Given the description of an element on the screen output the (x, y) to click on. 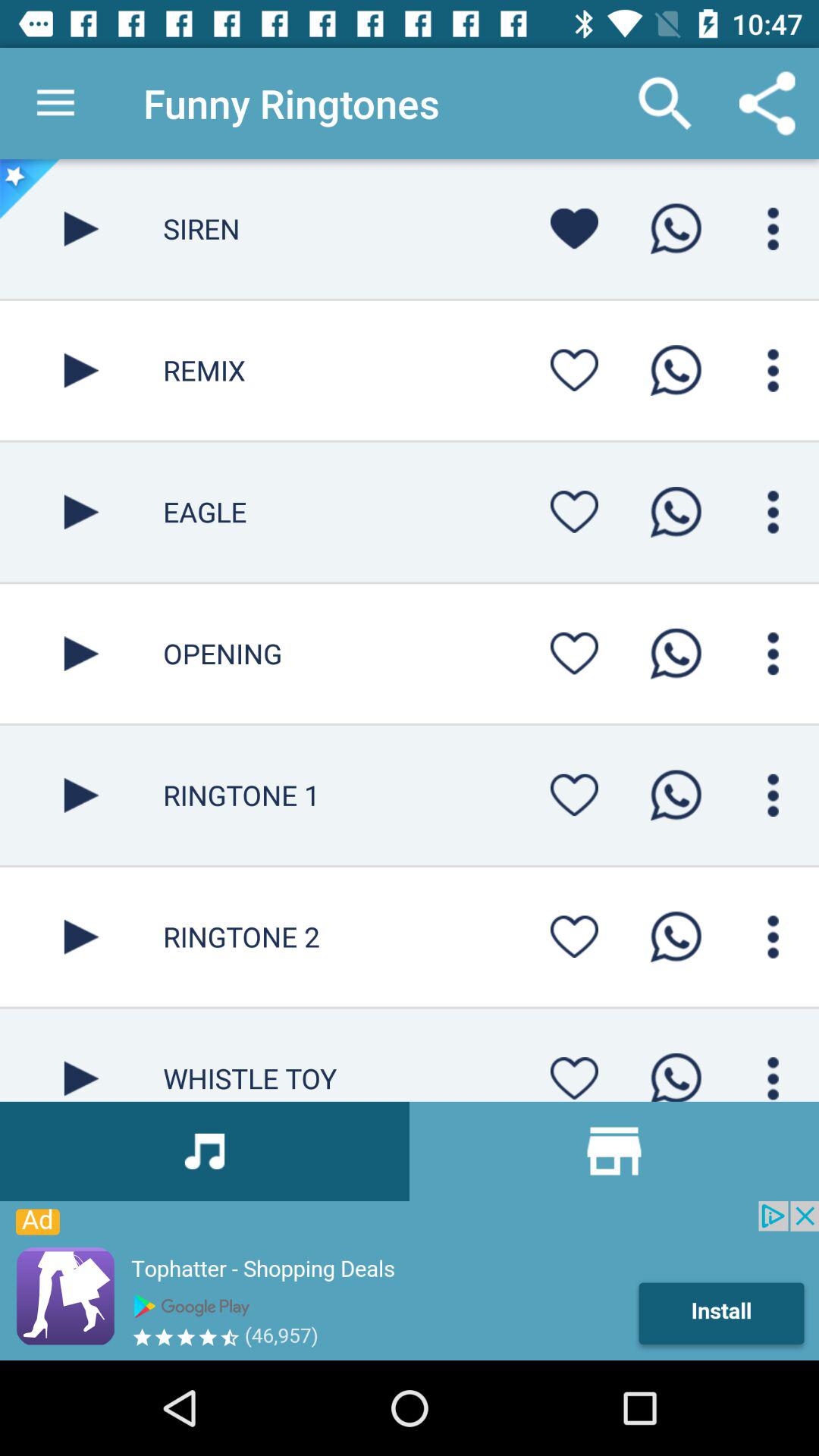
extra option (773, 511)
